Given the description of an element on the screen output the (x, y) to click on. 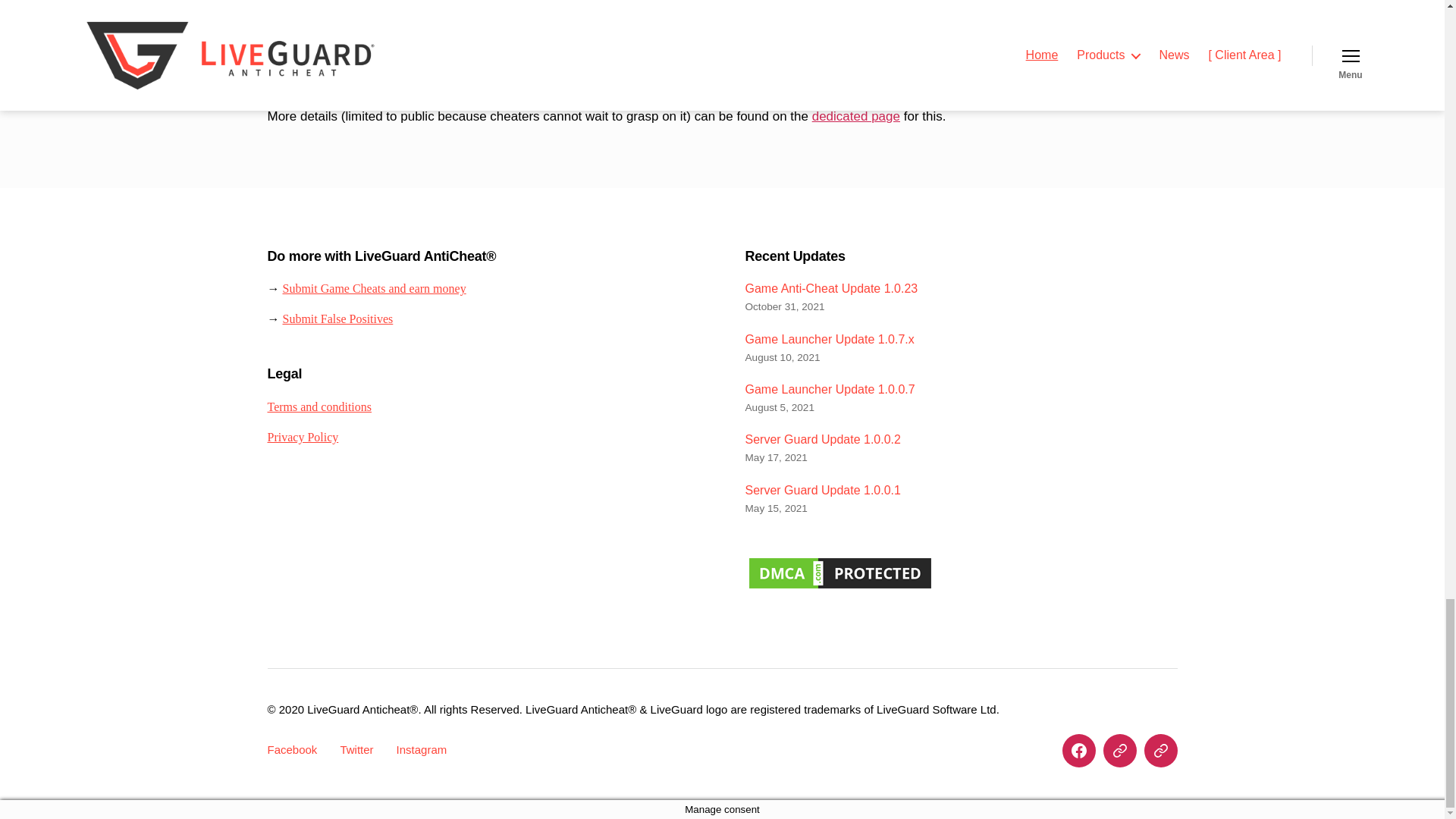
Twitter (355, 748)
Submit Game Cheats and earn money (373, 288)
Terms and conditions (318, 406)
Server Guard Update 1.0.0.2 (821, 439)
Submit False Positives (337, 319)
Server Guard Update 1.0.0.1 (821, 490)
Facebook (291, 748)
dedicated page (855, 115)
Game Launcher Update 1.0.7.x (829, 338)
Content Protection by DMCA.com (839, 573)
Privacy Policy (301, 437)
Game Anti-Cheat Update 1.0.23 (830, 287)
Game Launcher Update 1.0.0.7 (829, 389)
